Given the description of an element on the screen output the (x, y) to click on. 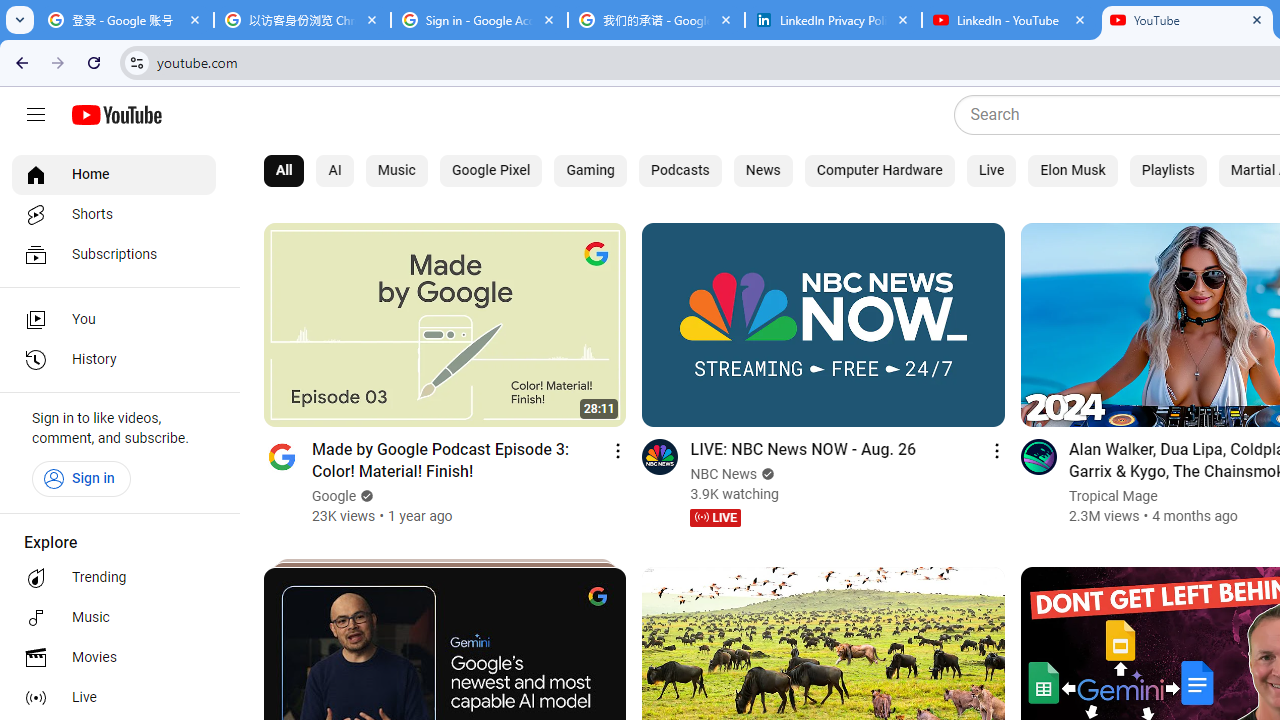
Movies (113, 657)
